Given the description of an element on the screen output the (x, y) to click on. 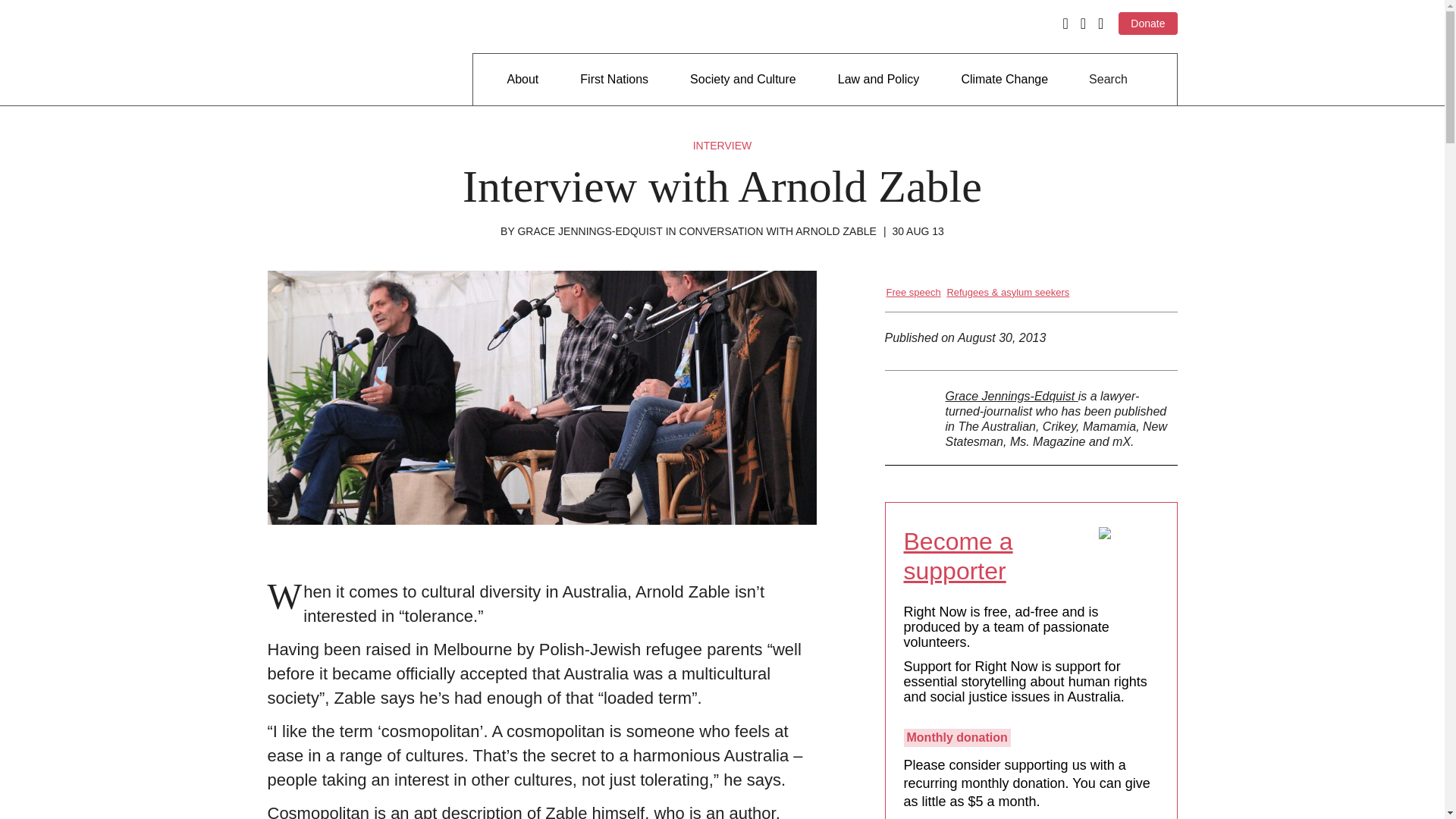
GRACE JENNINGS-EDQUIST (589, 231)
Climate Change (1004, 79)
Free speech (912, 292)
INTERVIEW (722, 145)
Society and Culture (743, 79)
Grace Jennings-Edquist (1010, 395)
Donate (1147, 23)
About (522, 79)
